Given the description of an element on the screen output the (x, y) to click on. 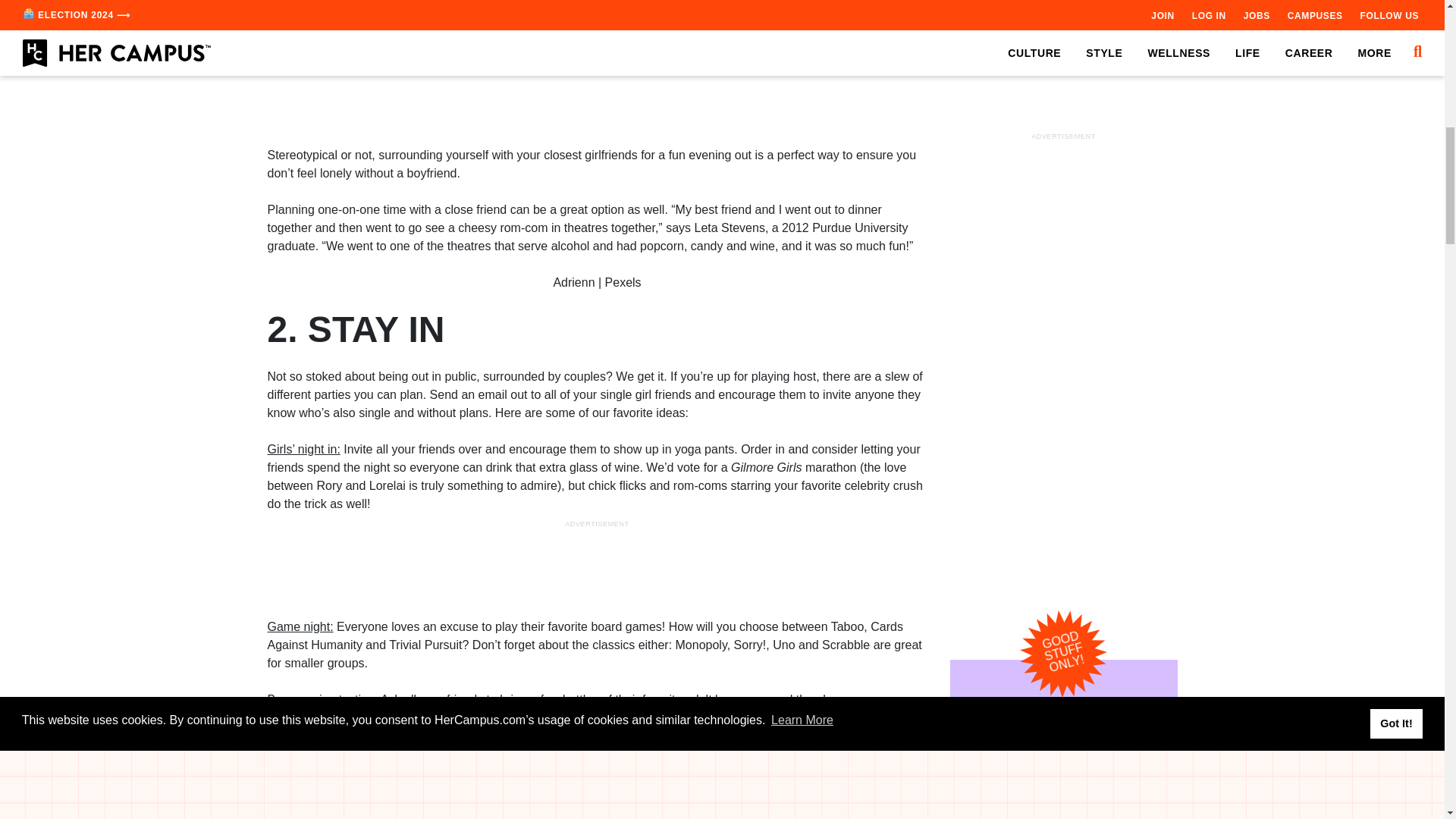
3rd party ad content (597, 565)
3rd party ad content (597, 93)
3rd party ad content (1062, 110)
